Given the description of an element on the screen output the (x, y) to click on. 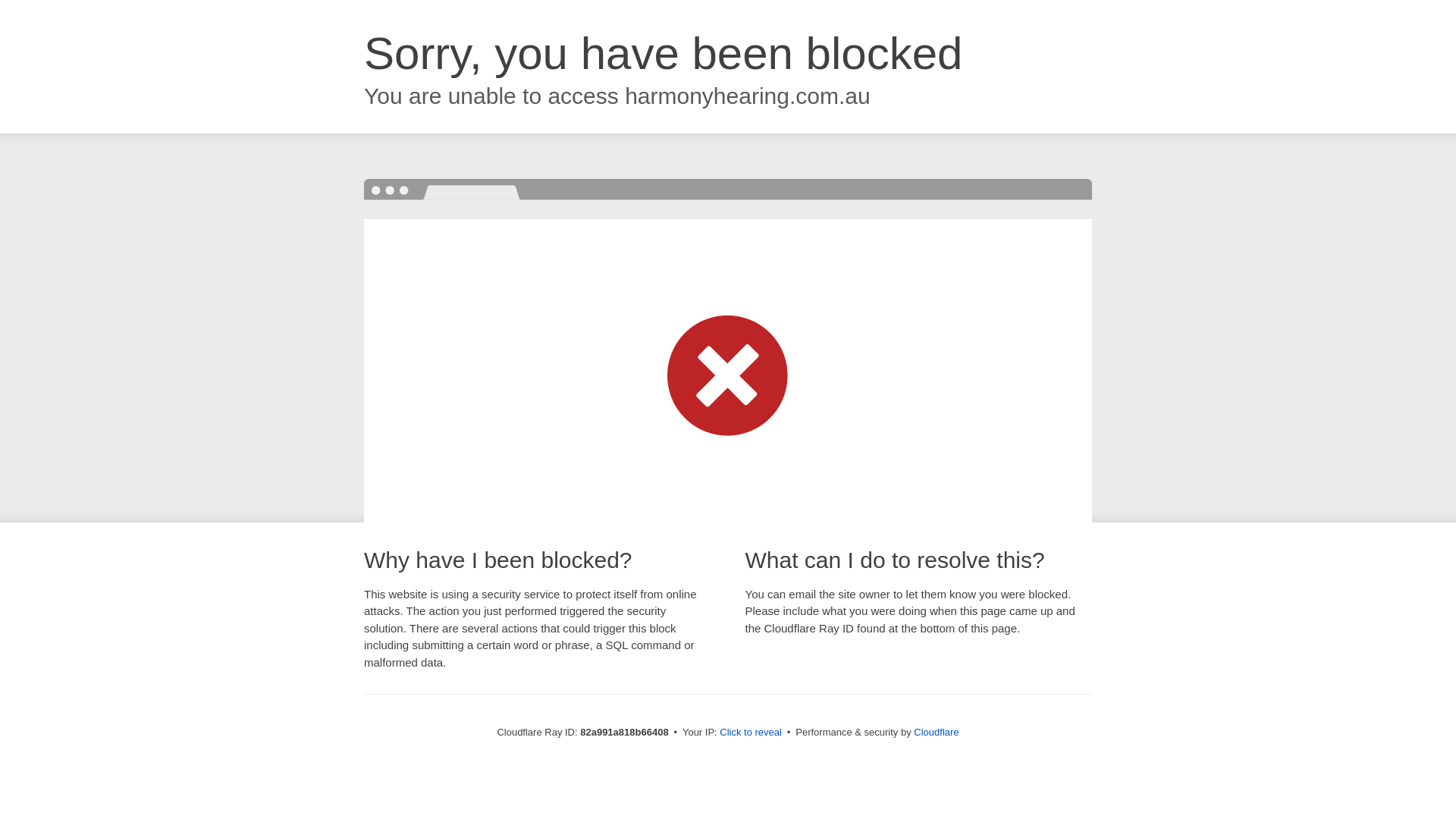
Click to reveal Element type: text (750, 732)
Cloudflare Element type: text (935, 731)
